Given the description of an element on the screen output the (x, y) to click on. 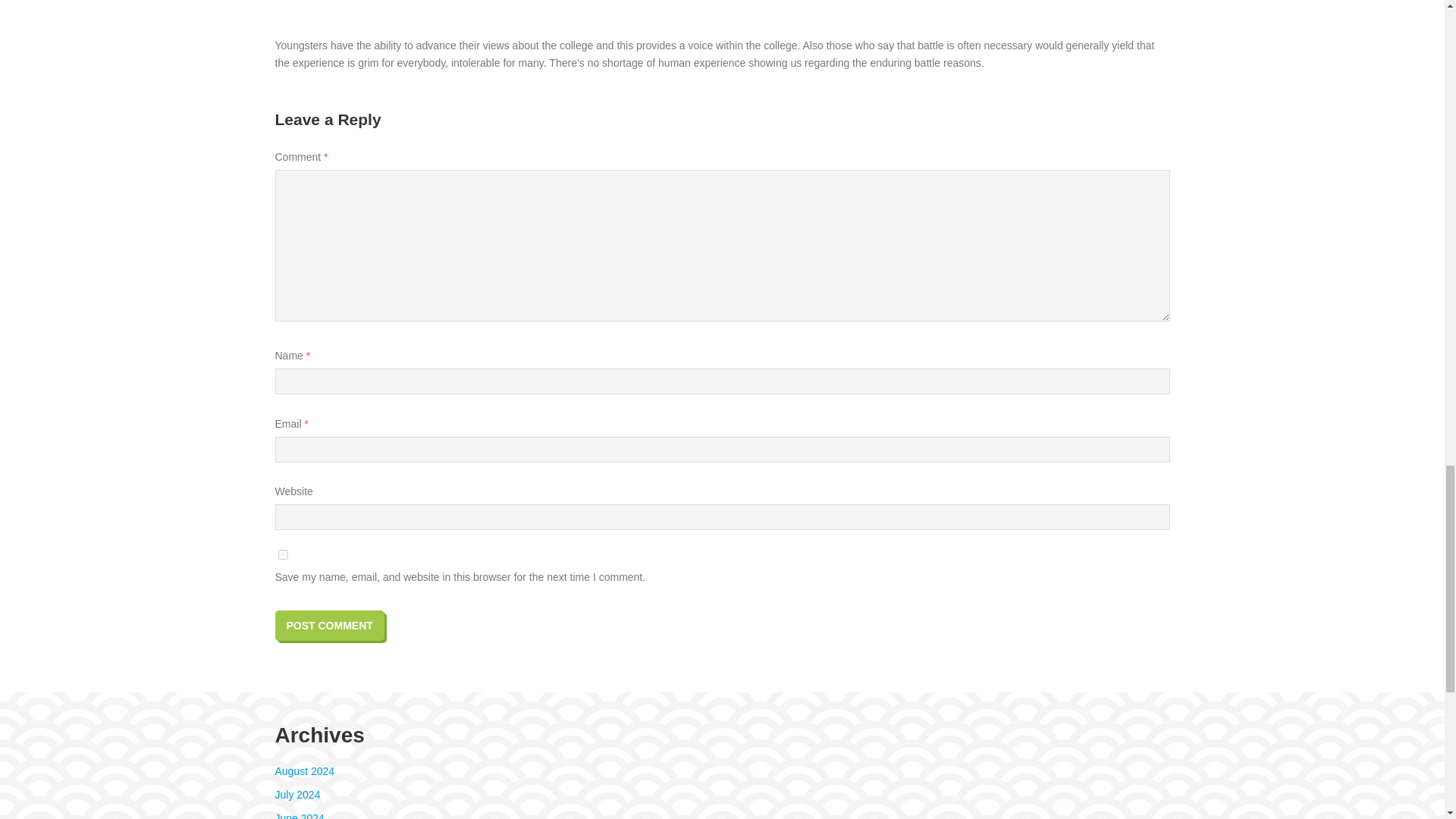
Post Comment (329, 625)
Post Comment (329, 625)
July 2024 (297, 794)
June 2024 (299, 815)
yes (282, 554)
August 2024 (304, 770)
